Given the description of an element on the screen output the (x, y) to click on. 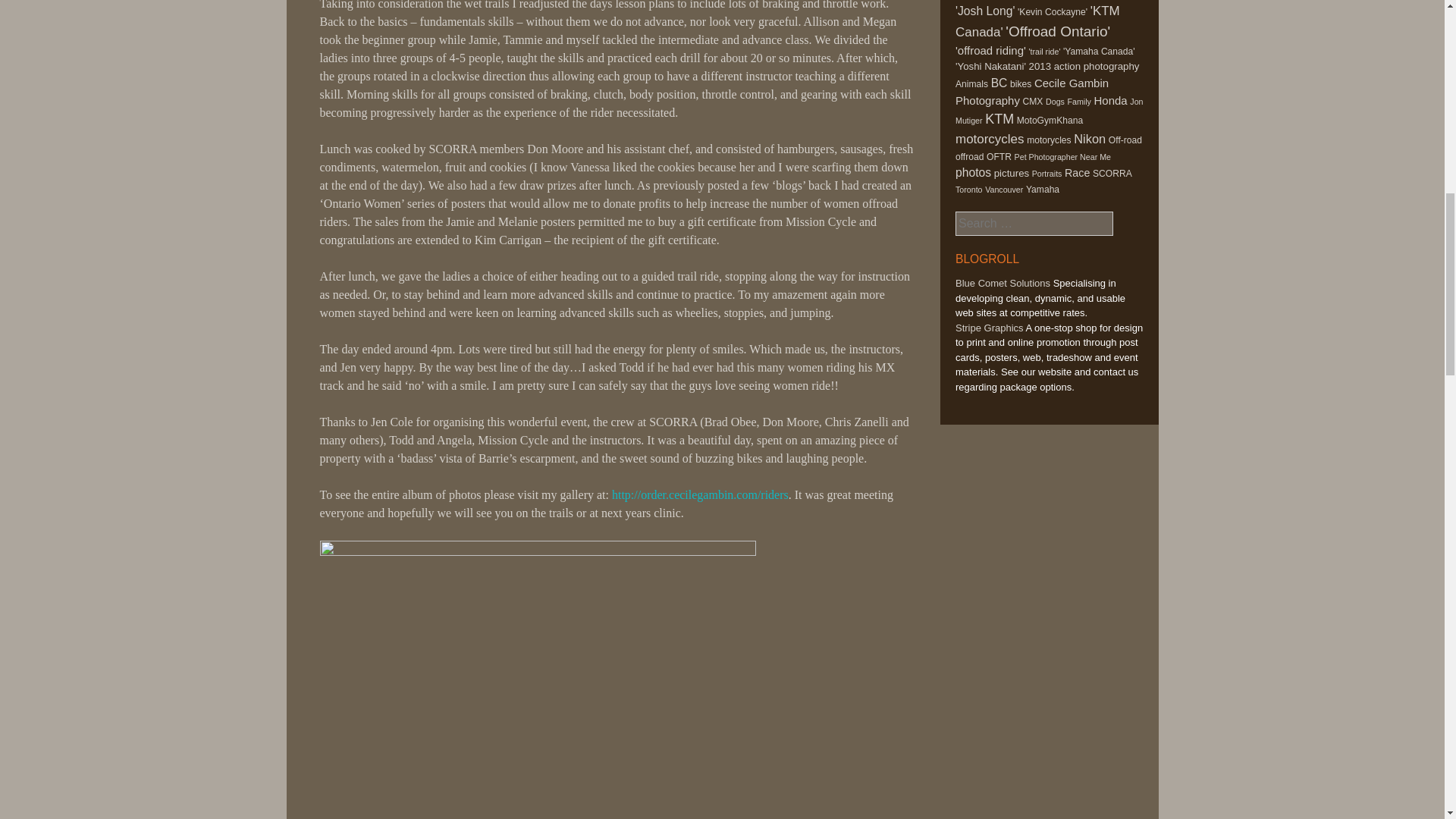
Blog Ladies Clinic-5 (537, 679)
